Given the description of an element on the screen output the (x, y) to click on. 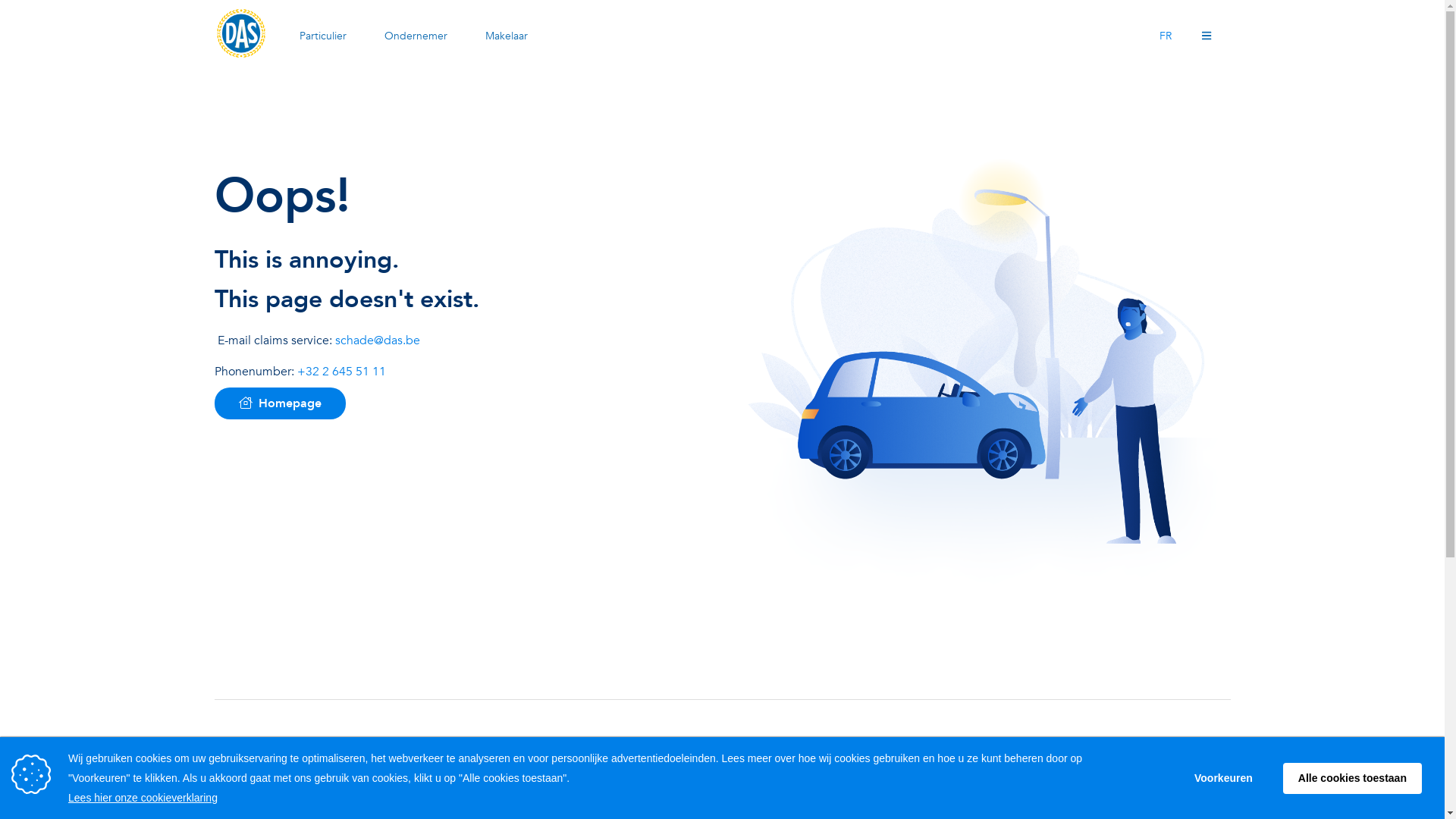
FR Element type: text (1165, 35)
Homepage Element type: text (279, 403)
+32 2 645 51 11 Element type: text (341, 371)
schade@das.be Element type: text (377, 340)
